Given the description of an element on the screen output the (x, y) to click on. 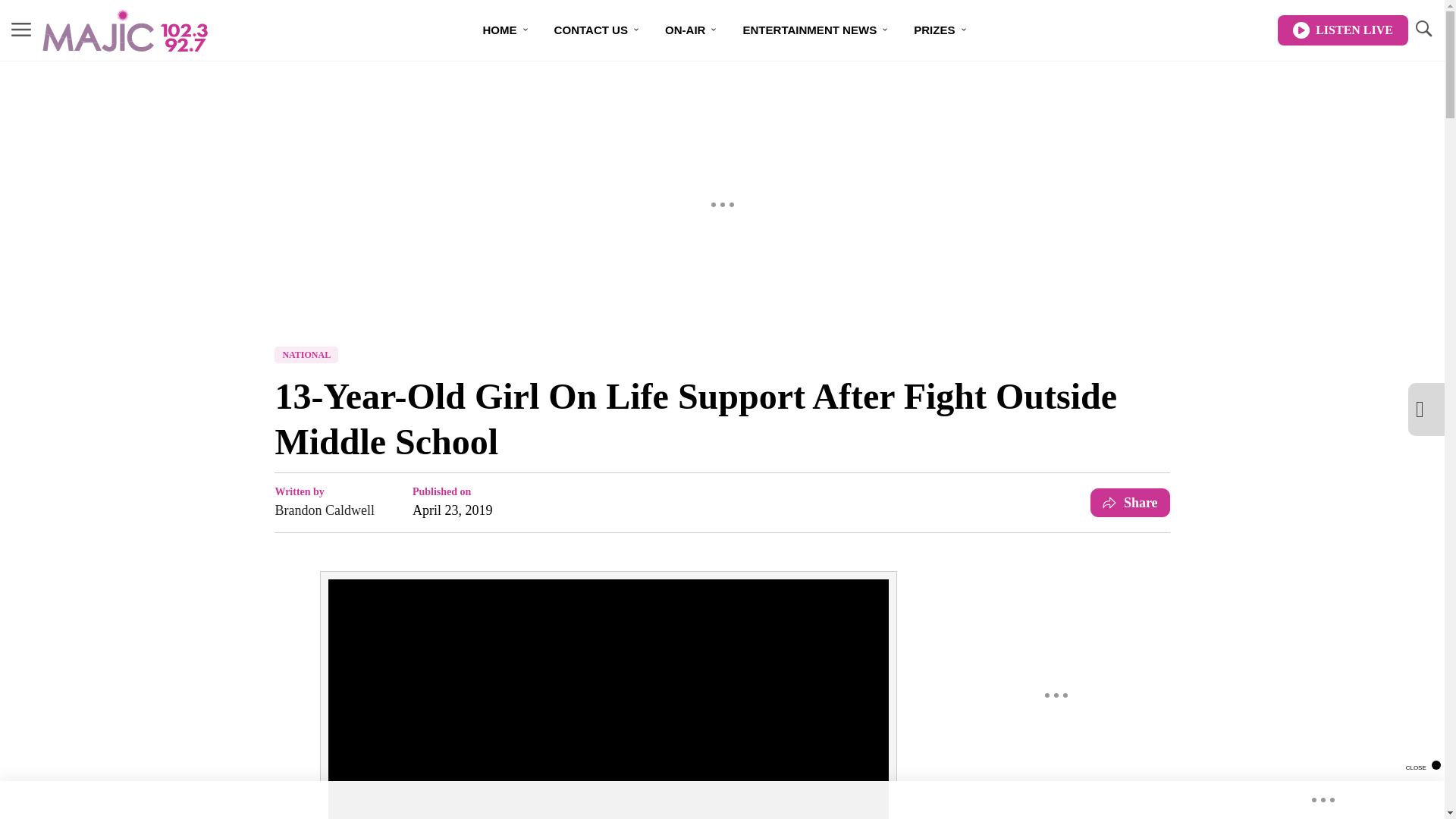
TOGGLE SEARCH (1422, 28)
ENTERTAINMENT NEWS (815, 30)
Share (1130, 502)
Brandon Caldwell (324, 509)
TOGGLE SEARCH (1422, 30)
NATIONAL (306, 354)
ON-AIR (691, 30)
LISTEN LIVE (1342, 30)
PRIZES (940, 30)
CONTACT US (596, 30)
